Given the description of an element on the screen output the (x, y) to click on. 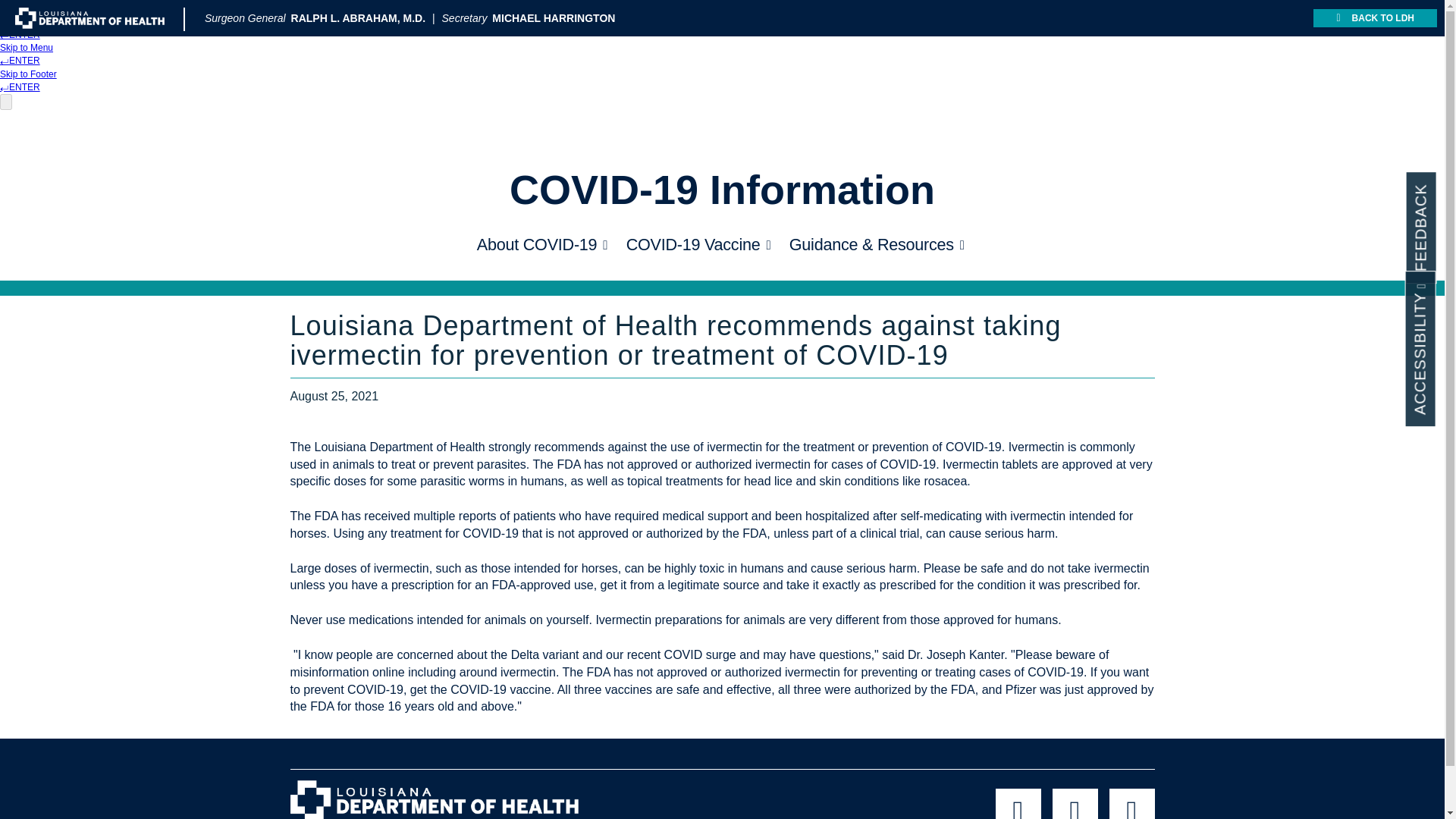
more about covid-19 (962, 244)
Instagram (1131, 803)
Twitter (1074, 803)
more about covid-19 (767, 244)
BACK TO LDH (1375, 18)
About COVID-19 (536, 244)
Facebook (1017, 803)
COVID-19 Vaccine (693, 244)
more about covid-19 (604, 244)
